Given the description of an element on the screen output the (x, y) to click on. 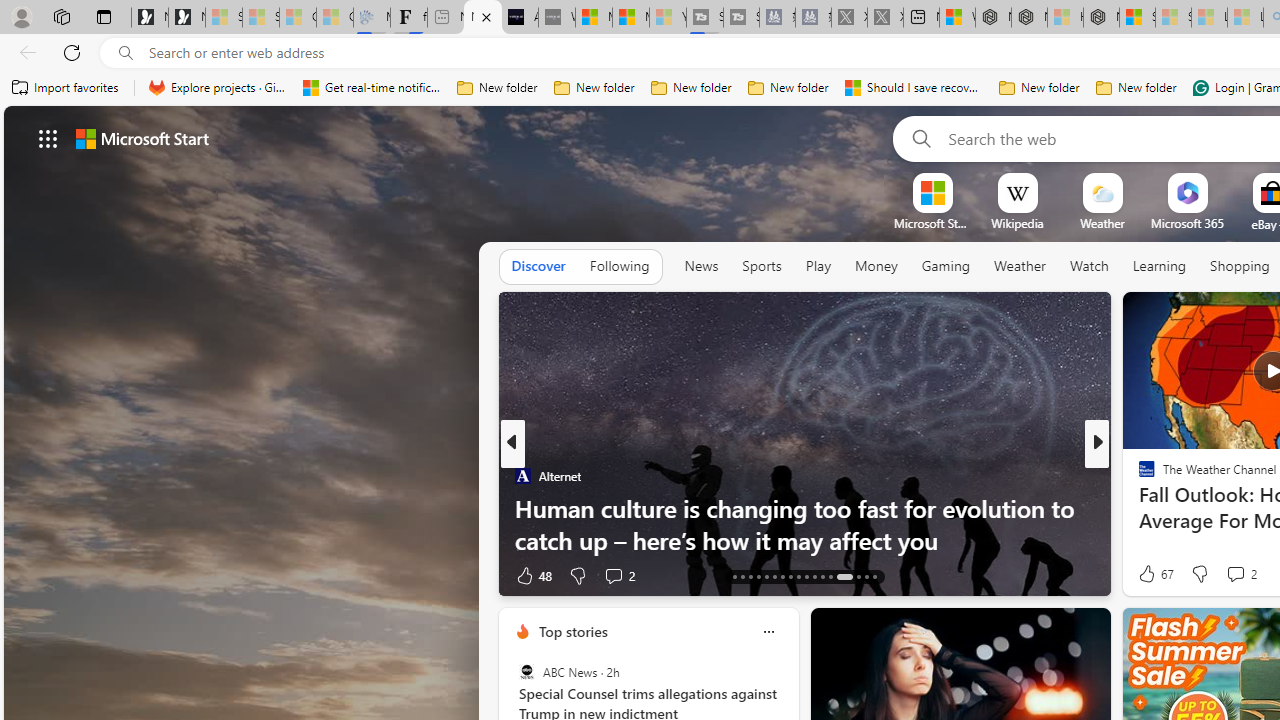
Wikipedia (1017, 223)
Alternet (522, 475)
Import favorites (65, 88)
Watch (1089, 267)
View comments 4 Comment (1234, 574)
Microsoft start (142, 138)
AutomationID: tab-40 (844, 576)
Sports (761, 267)
Wildlife - MSN (957, 17)
67 Like (1154, 574)
Microsoft Start (630, 17)
ABC News (526, 672)
AutomationID: tab-17 (733, 576)
Gaming (945, 267)
